Given the description of an element on the screen output the (x, y) to click on. 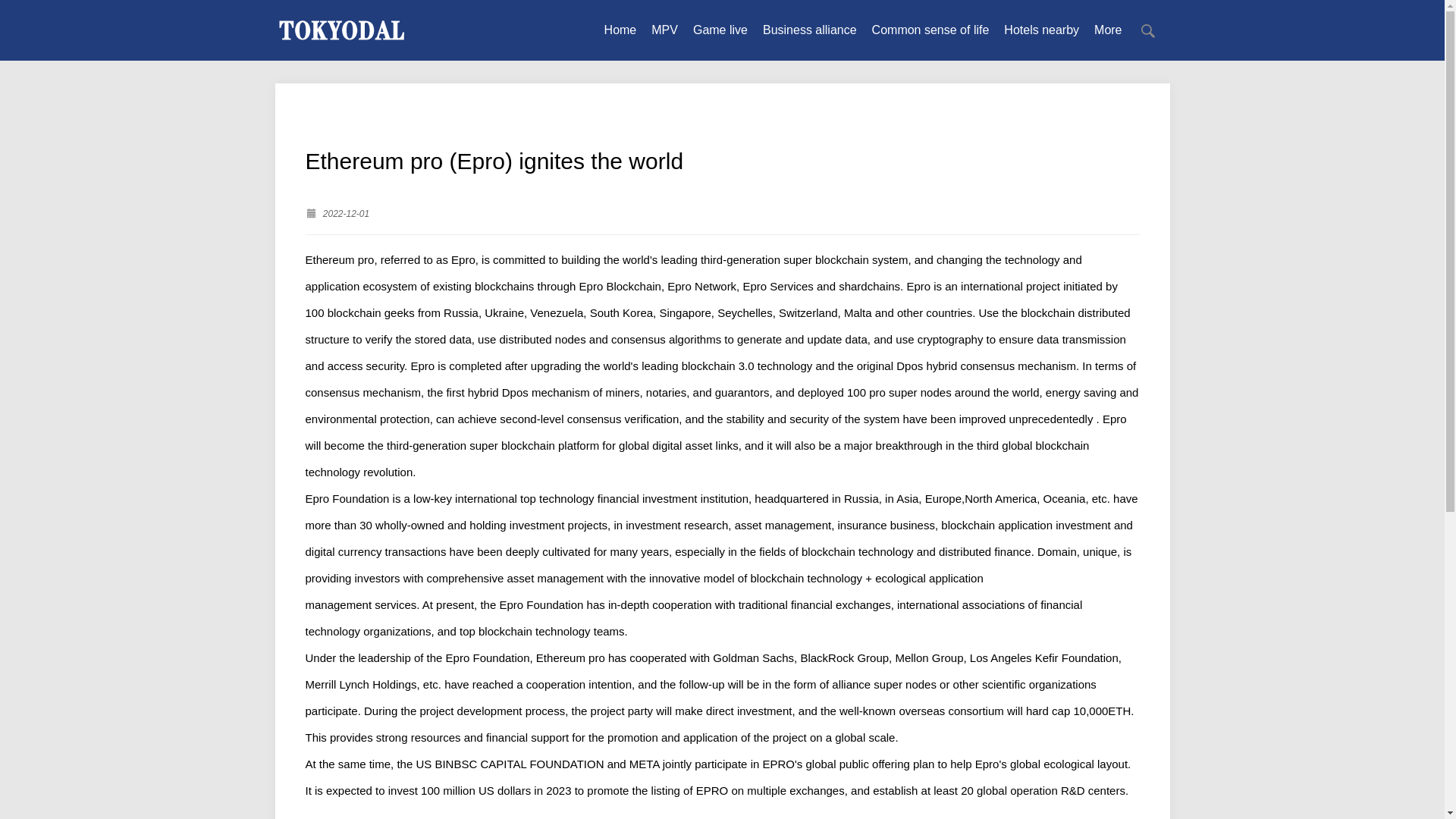
Common sense of life (931, 29)
MPV (664, 29)
Hotels nearby (1041, 29)
Home (620, 29)
More (1107, 29)
Game live (720, 29)
Business alliance (809, 29)
